Given the description of an element on the screen output the (x, y) to click on. 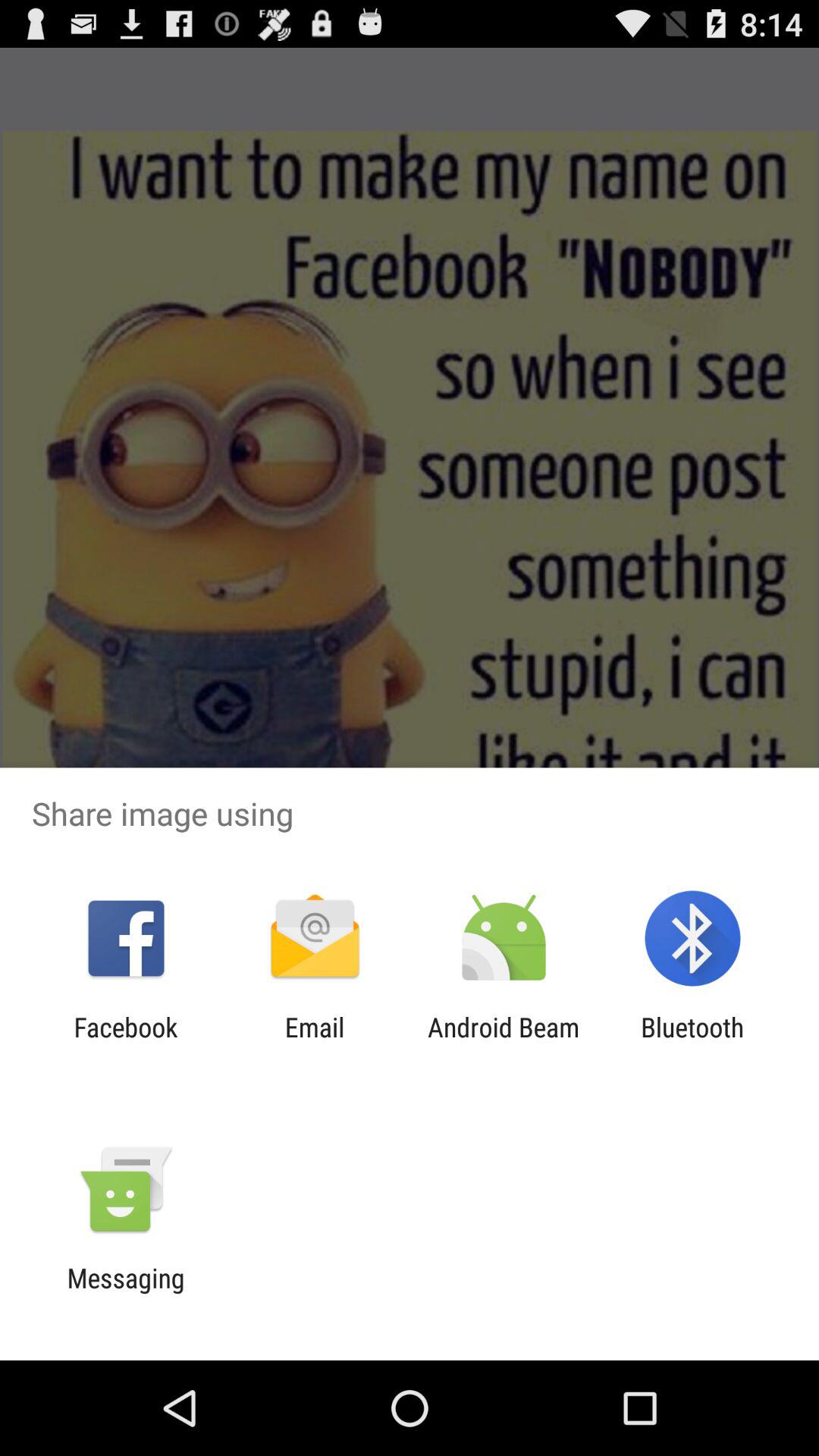
turn off the icon to the right of the facebook (314, 1042)
